Given the description of an element on the screen output the (x, y) to click on. 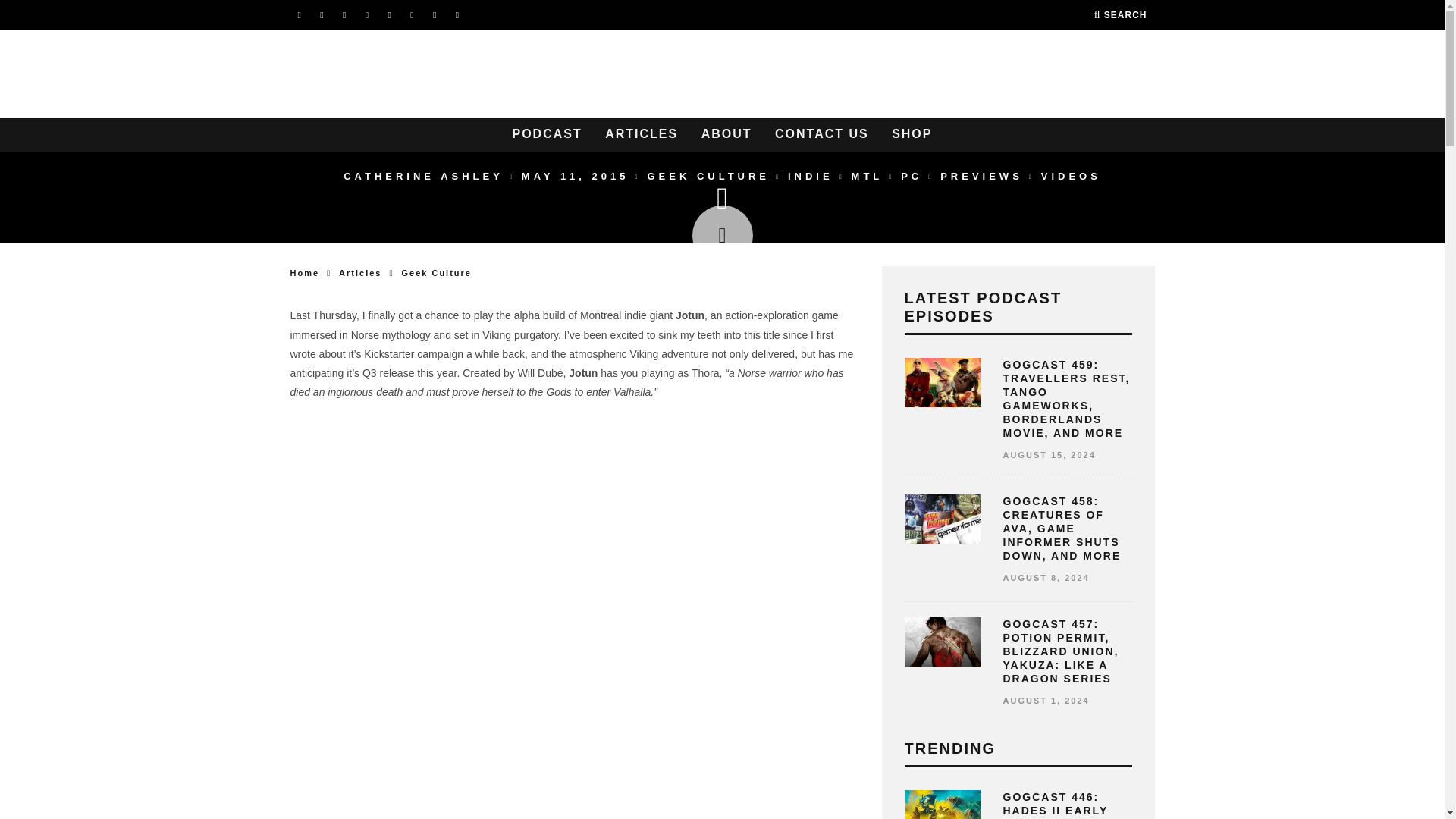
View all posts in Geek Culture (708, 176)
Posts by Catherine Ashley (423, 176)
PODCAST (547, 134)
Search (1120, 15)
View all posts in Indie (809, 176)
SEARCH (1120, 15)
